Given the description of an element on the screen output the (x, y) to click on. 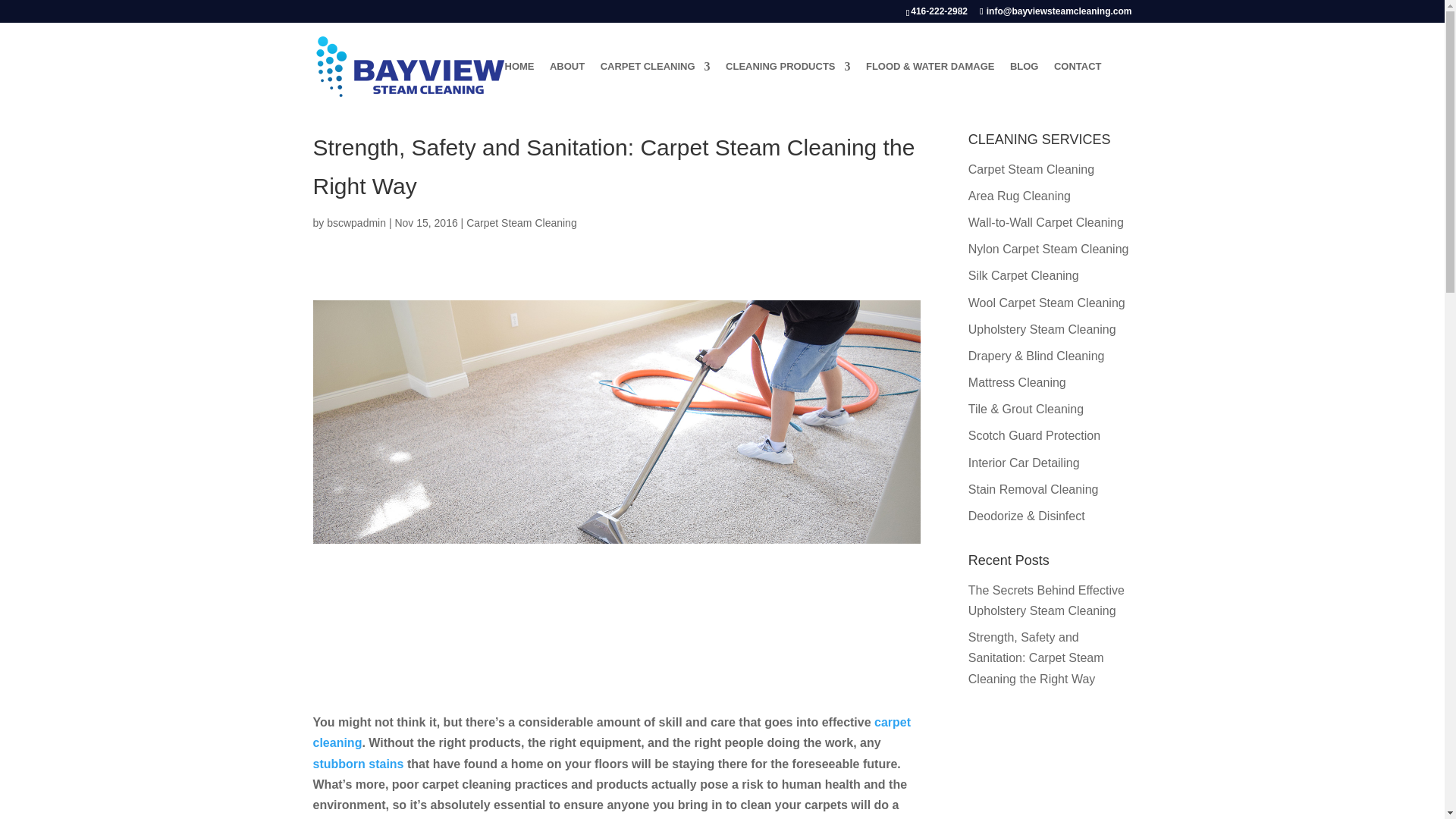
CONTACT (1078, 85)
Posts by bscwpadmin (355, 223)
CLEANING PRODUCTS (787, 85)
Area Rug Cleaning (1019, 195)
CARPET CLEANING (654, 85)
Carpet Steam Cleaning (520, 223)
stubborn stains (358, 763)
Carpet Steam Cleaning (1031, 169)
bscwpadmin (355, 223)
carpet cleaning (612, 732)
